Given the description of an element on the screen output the (x, y) to click on. 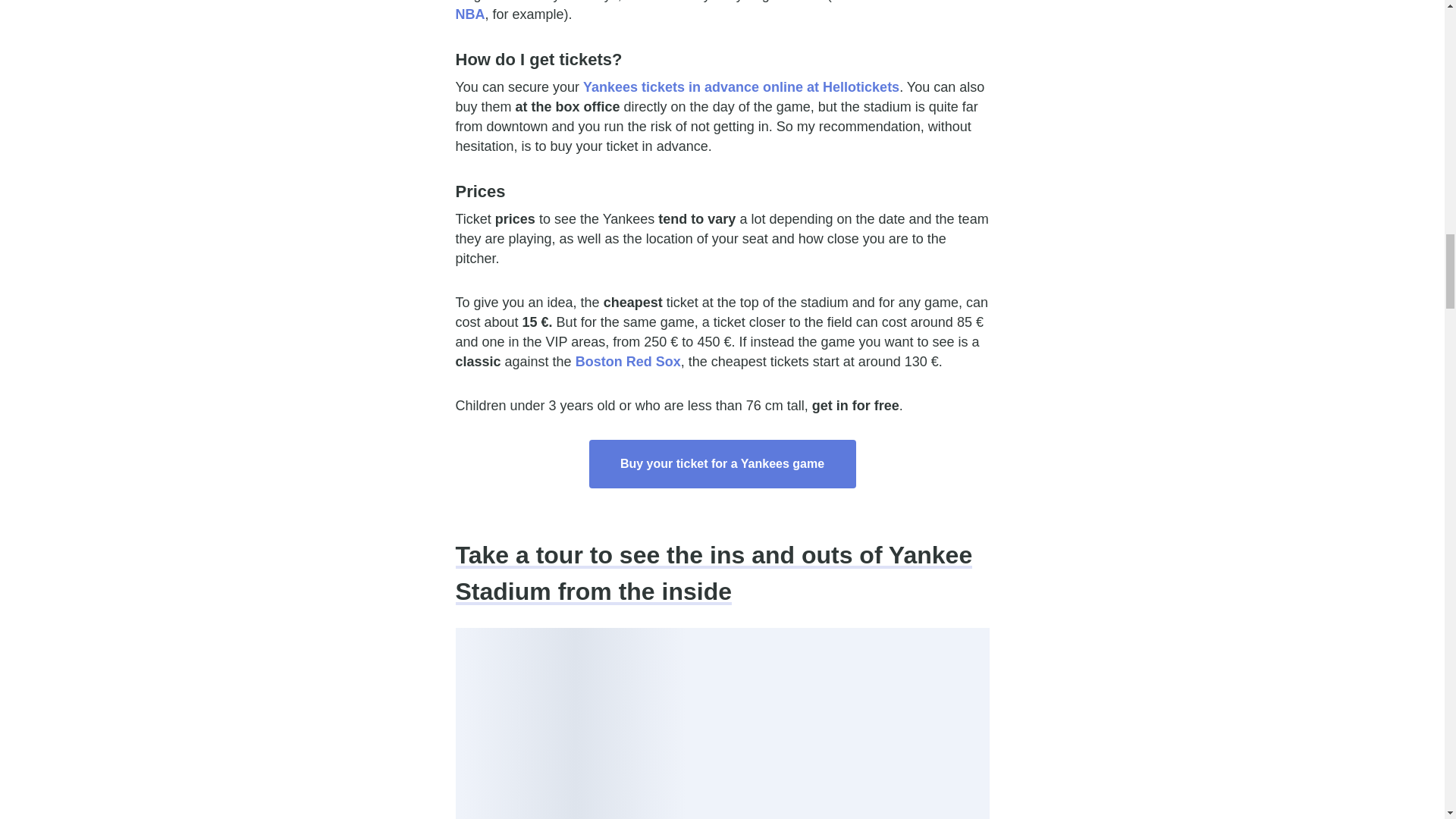
Yankees tickets in advance online at Hellotickets (741, 87)
Buy your ticket for a Yankees game (722, 463)
Boston Red Sox (628, 361)
NBA (469, 14)
